Given the description of an element on the screen output the (x, y) to click on. 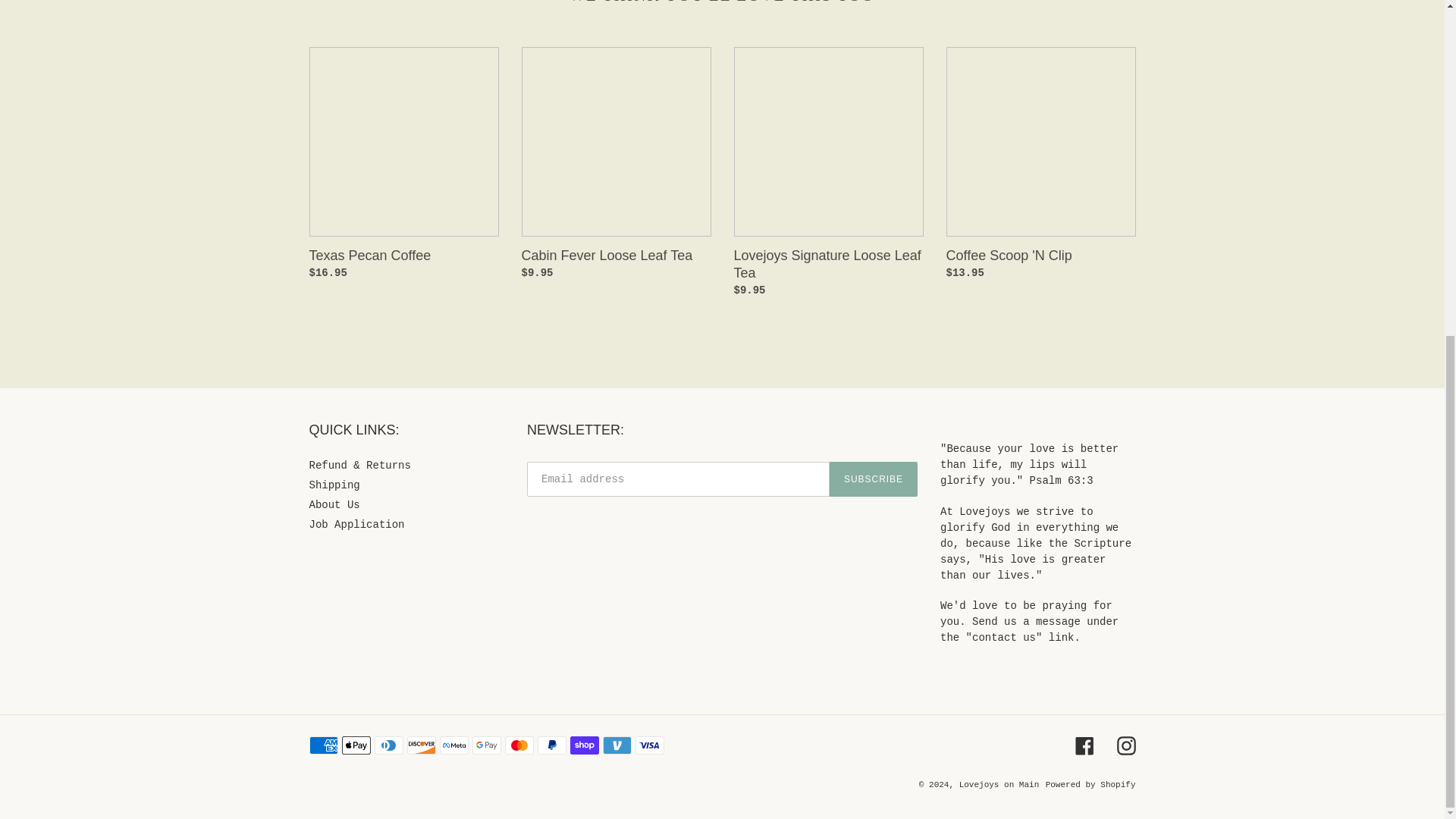
About Us (333, 504)
Shipping (333, 485)
Powered by Shopify (1090, 784)
Facebook (1084, 745)
Lovejoys on Main (999, 784)
Job Application (356, 524)
SUBSCRIBE (873, 478)
Instagram (1125, 745)
